Given the description of an element on the screen output the (x, y) to click on. 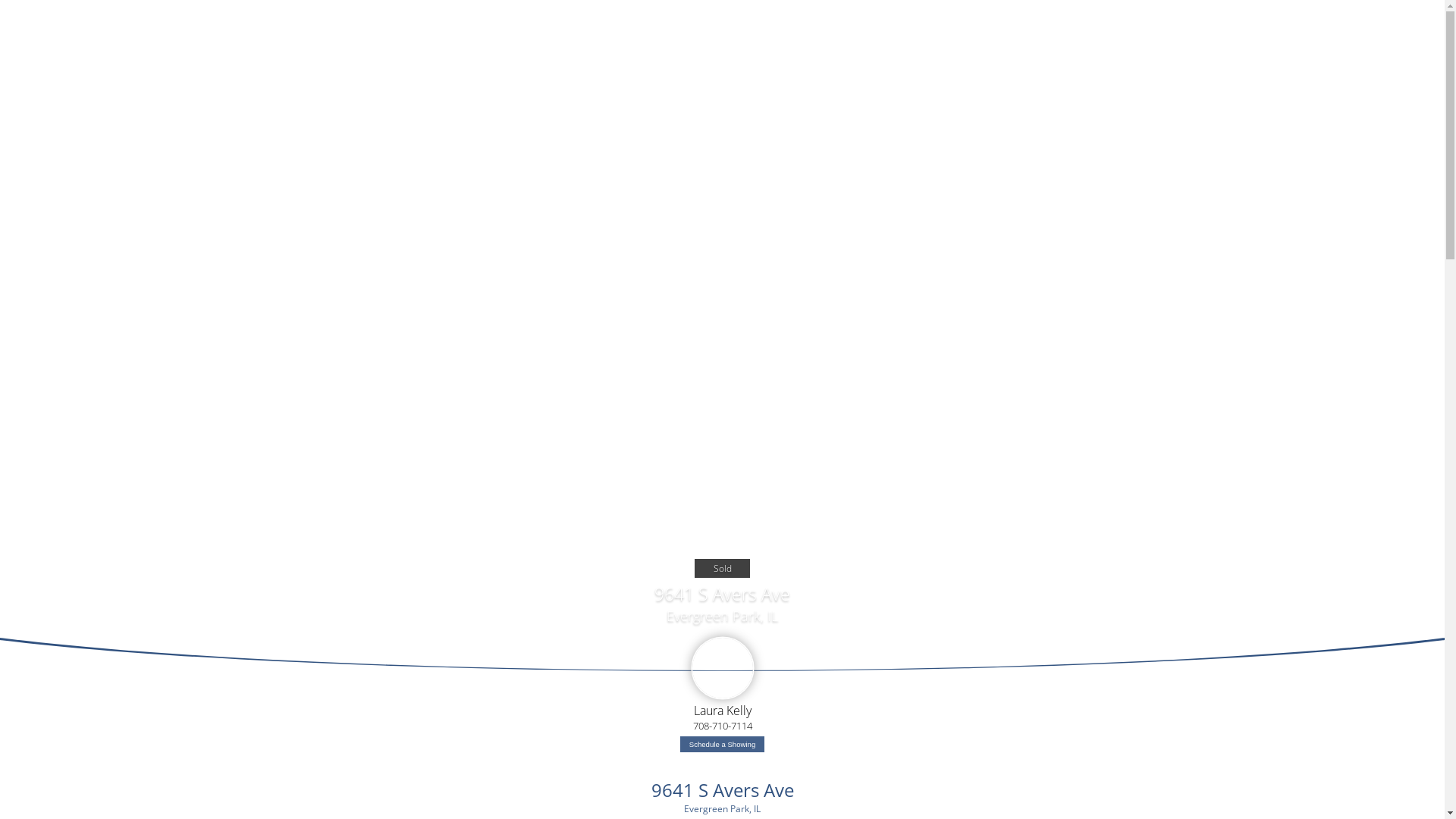
Schedule a Showing Element type: text (722, 744)
